Given the description of an element on the screen output the (x, y) to click on. 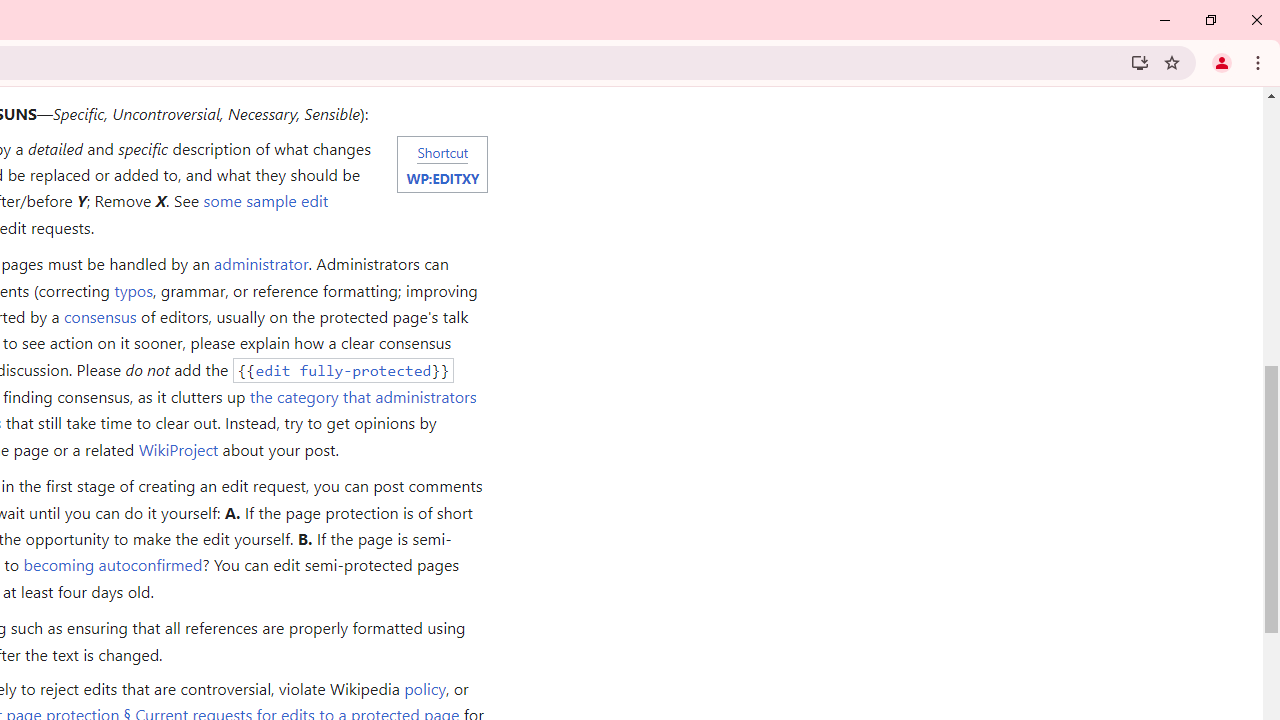
edit fully-protected (343, 370)
Restore (1210, 20)
becoming autoconfirmed (113, 564)
Bookmark this tab (1171, 62)
WP:EDITXY (441, 177)
typos (133, 289)
Close (1256, 20)
WikiProject (178, 448)
consensus (99, 315)
policy (424, 687)
Install Wikipedia (1139, 62)
Shortcut (442, 151)
You (1221, 62)
Chrome (1260, 62)
